Given the description of an element on the screen output the (x, y) to click on. 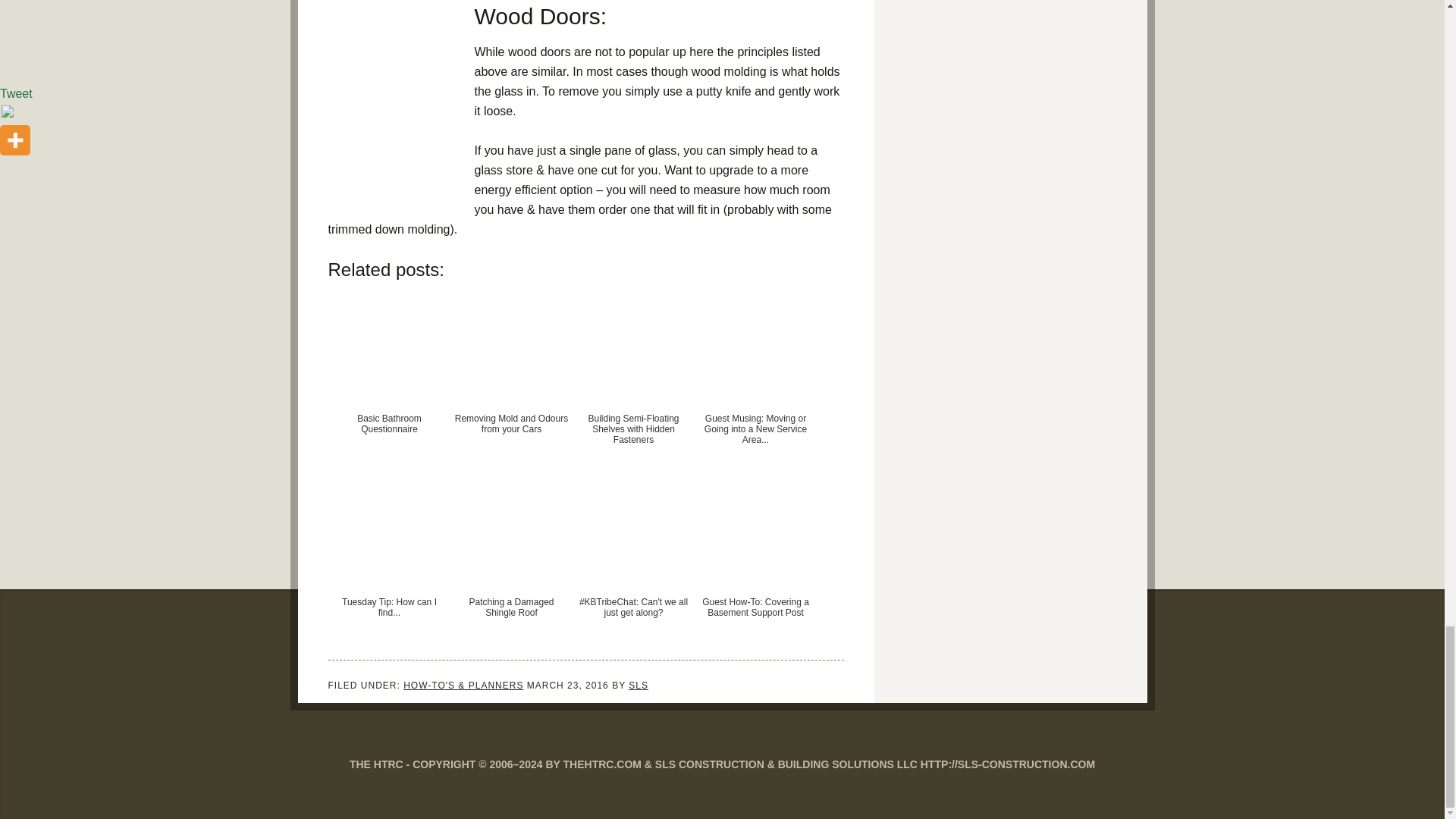
SLS (637, 685)
